Given the description of an element on the screen output the (x, y) to click on. 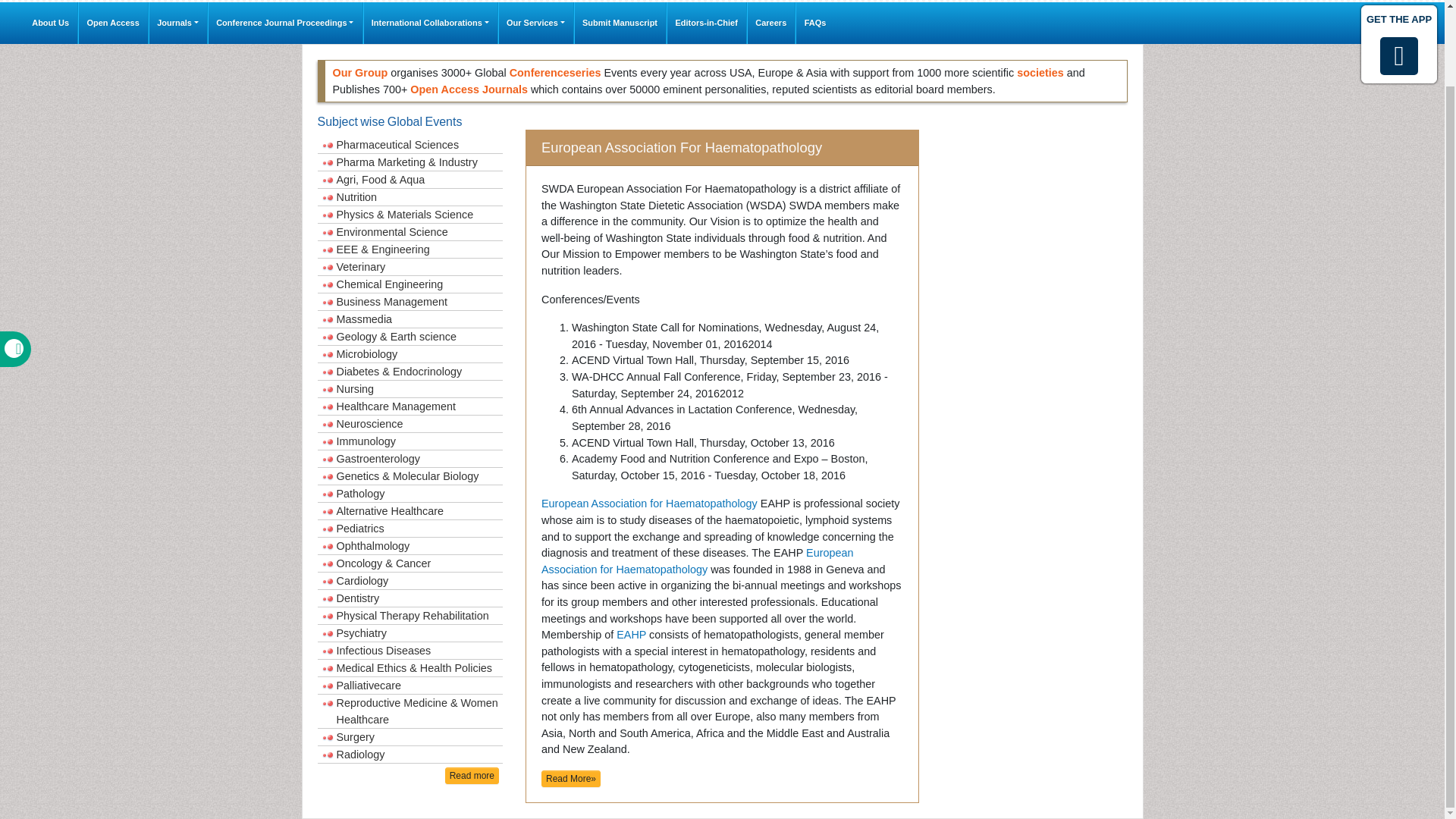
Conference Journal Proceedings (285, 23)
Open Access (113, 23)
International Collaborations (429, 23)
Journals (178, 23)
About Us (50, 23)
